Given the description of an element on the screen output the (x, y) to click on. 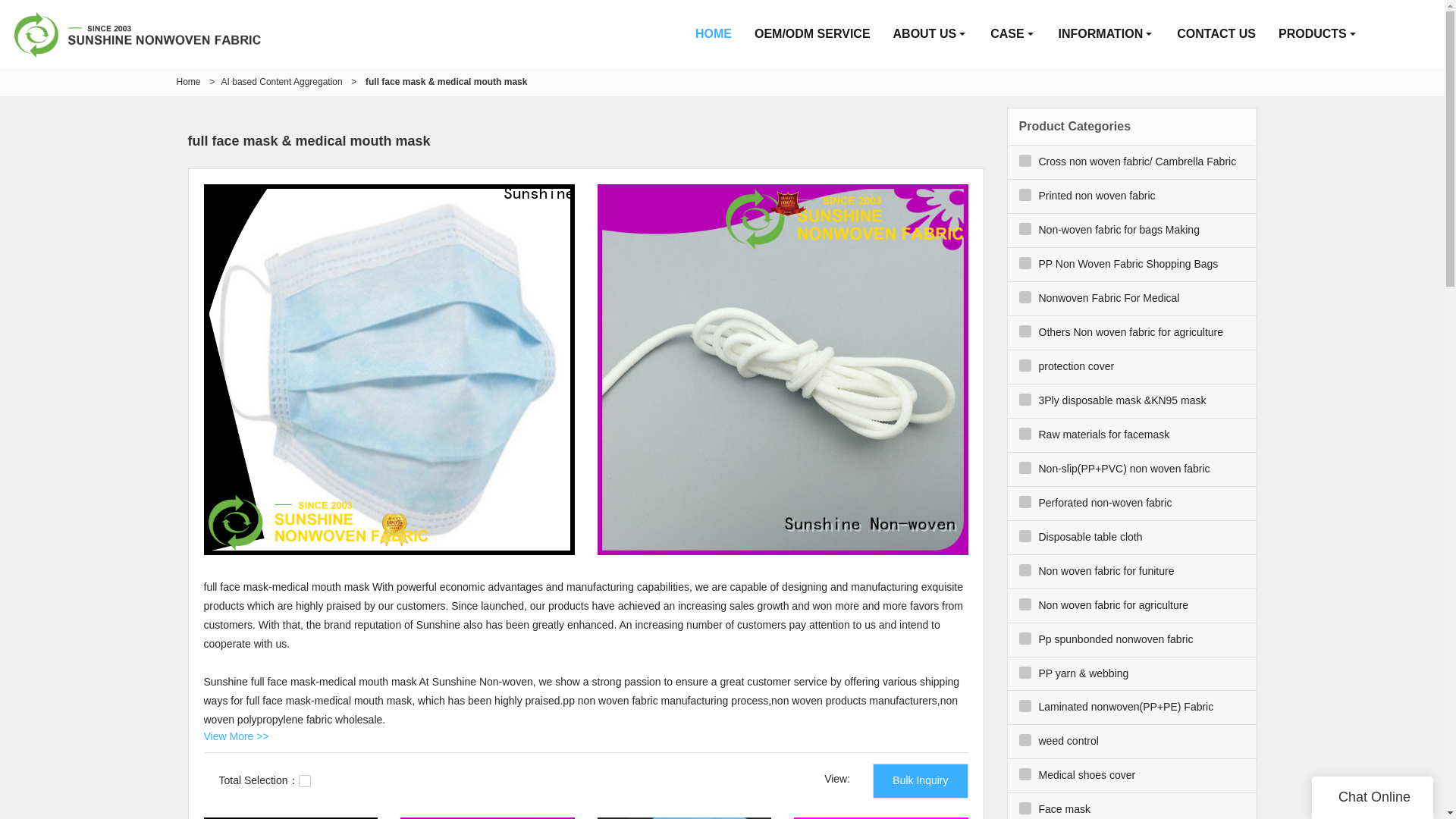
INFORMATION (1106, 33)
CONTACT US (1216, 33)
CASE (1012, 33)
PRODUCTS (1318, 33)
ABOUT US (930, 33)
on (304, 780)
